Given the description of an element on the screen output the (x, y) to click on. 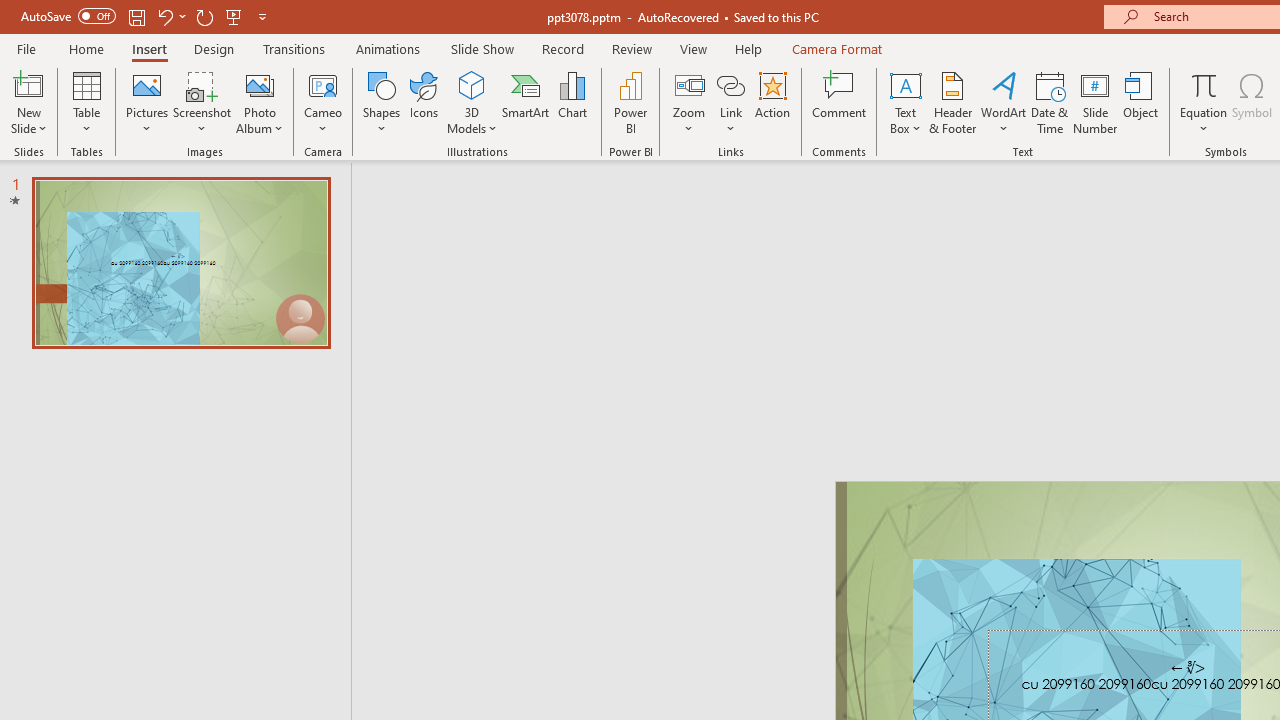
Cameo (323, 102)
Chart... (572, 102)
Action (772, 102)
Cameo (323, 84)
Text Box (905, 102)
New Photo Album... (259, 84)
Object... (1141, 102)
WordArt (1004, 102)
